Given the description of an element on the screen output the (x, y) to click on. 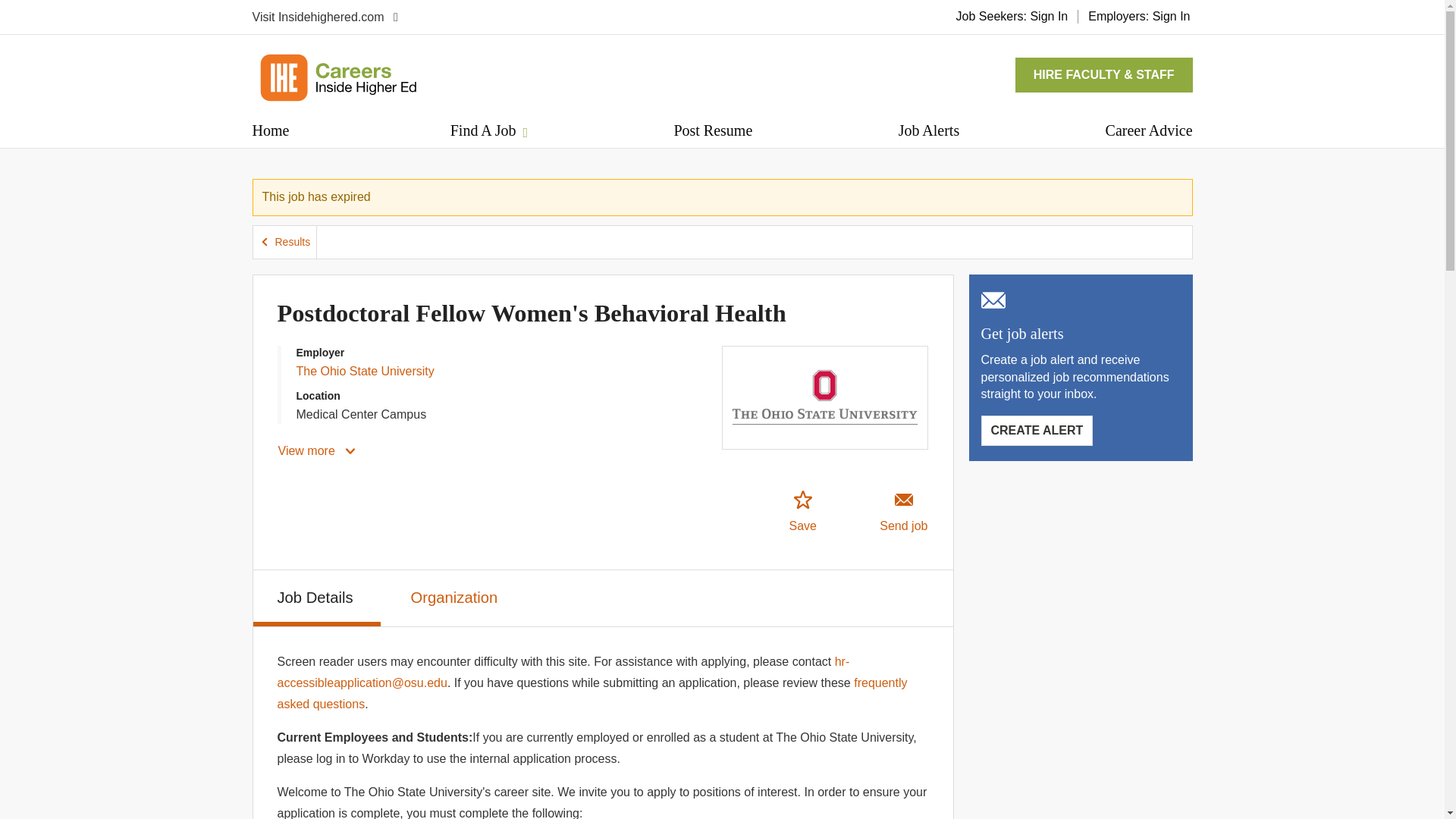
View more (318, 451)
Post Resume (712, 130)
Career Advice (1148, 130)
Home (269, 130)
The Ohio State University (364, 370)
Job Seekers: Sign In (1011, 16)
Inside Higher Ed Careers (337, 76)
Job Details (316, 598)
Employers: Sign In (1139, 16)
frequently asked questions (592, 693)
